Given the description of an element on the screen output the (x, y) to click on. 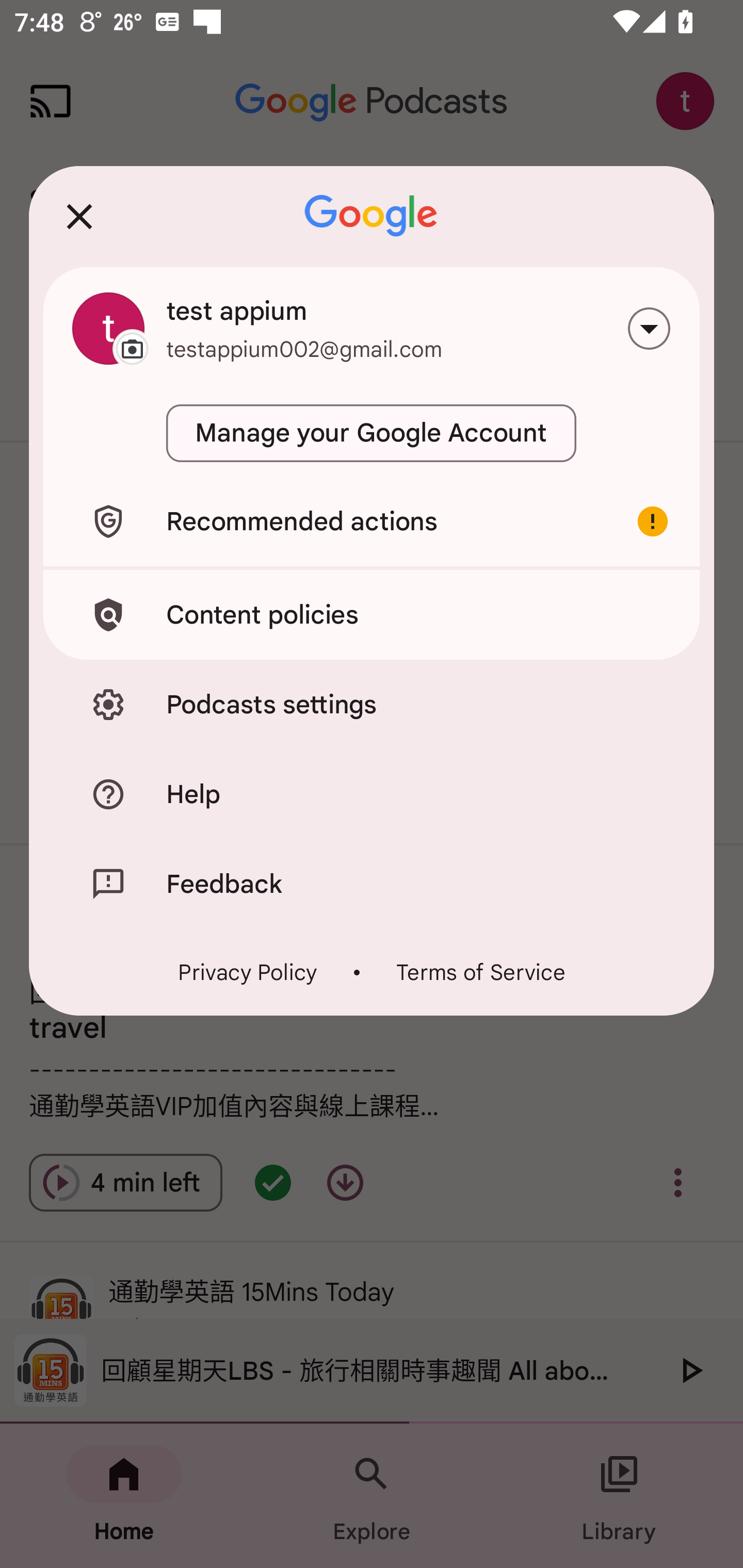
Close (79, 216)
Change profile picture. (108, 328)
Manage your Google Account (371, 433)
Recommended actions Important account alert (371, 521)
Content policies (371, 614)
Privacy Policy (247, 972)
Terms of Service (479, 972)
